Given the description of an element on the screen output the (x, y) to click on. 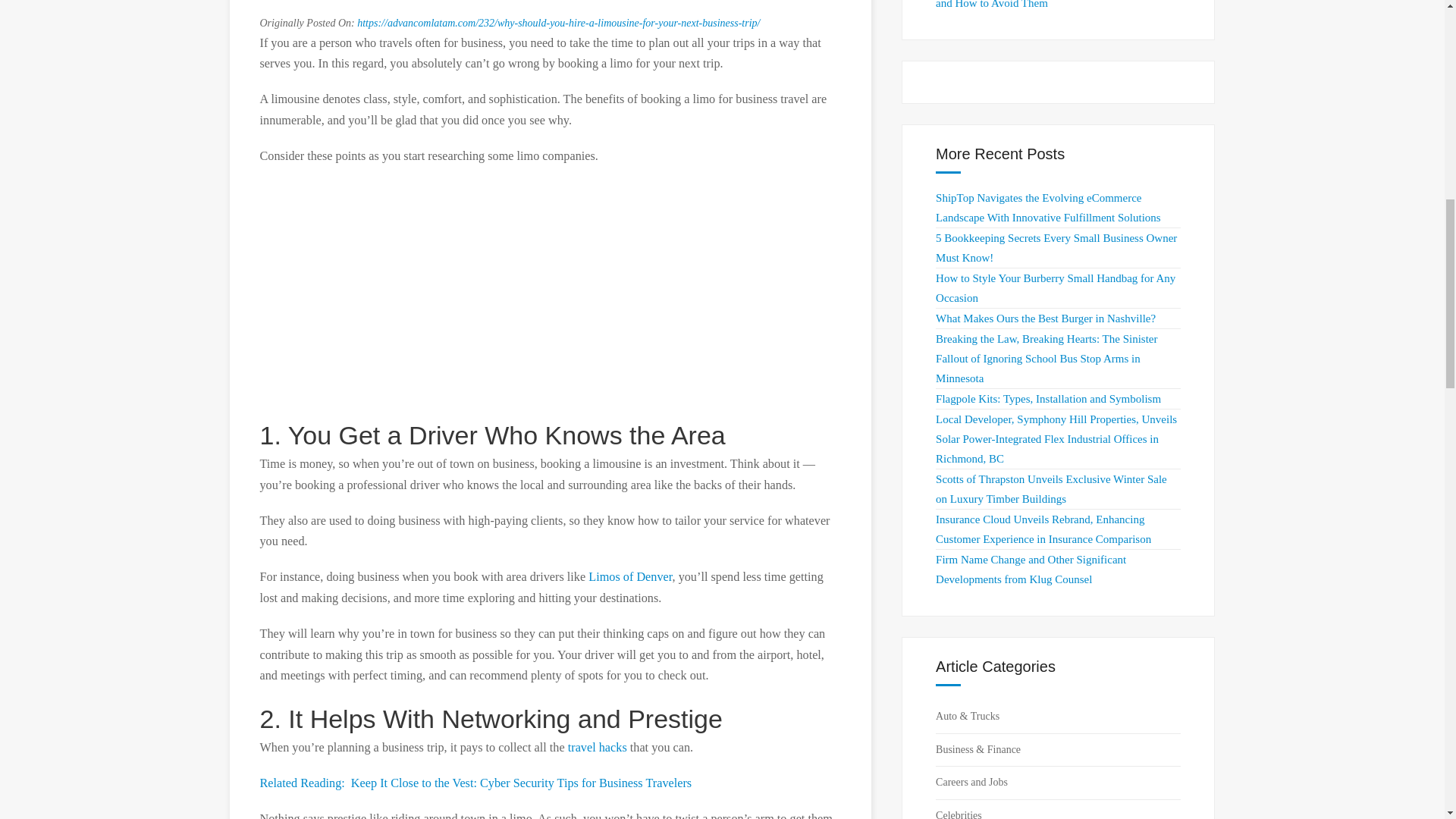
3rd party ad content (549, 291)
travel hacks (597, 747)
How to Style Your Burberry Small Handbag for Any Occasion (1055, 287)
5 Bookkeeping Secrets Every Small Business Owner Must Know! (1056, 247)
Limos of Denver (629, 576)
Flagpole Kits: Types, Installation and Symbolism (1048, 398)
